Given the description of an element on the screen output the (x, y) to click on. 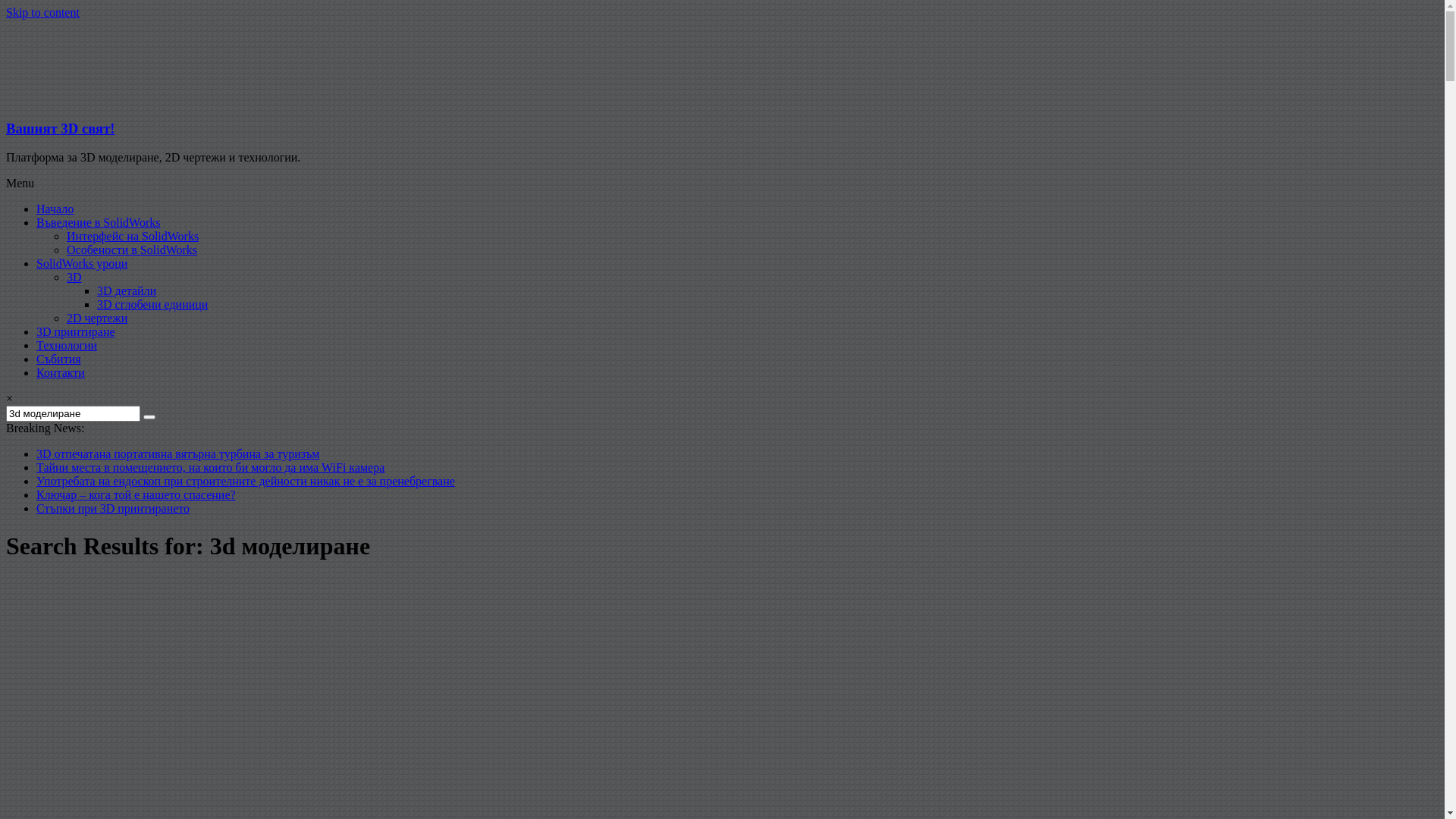
Skip to content Element type: text (42, 12)
3D Element type: text (73, 276)
